Given the description of an element on the screen output the (x, y) to click on. 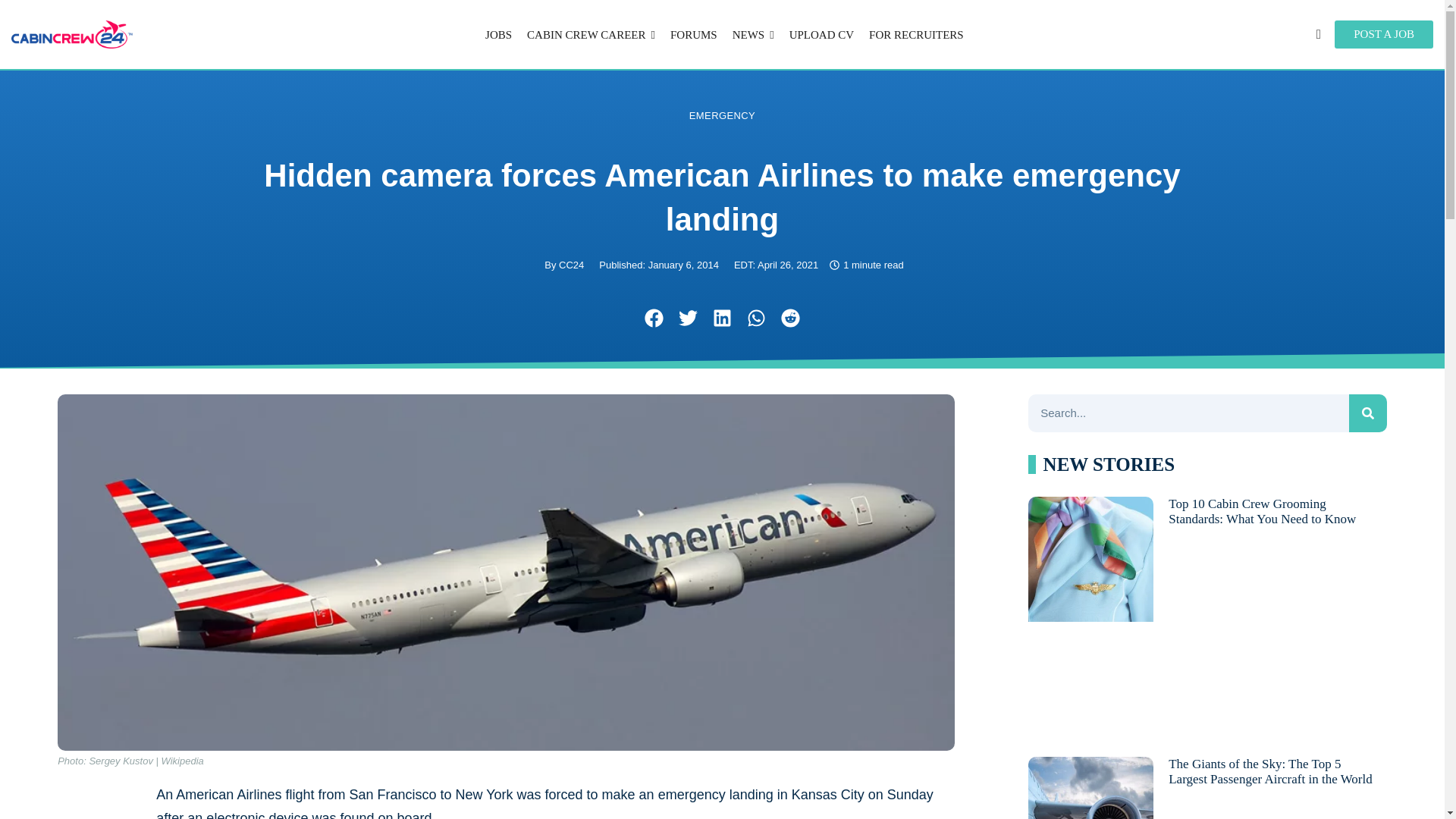
JOBS (498, 34)
CABIN CREW CAREER (591, 34)
Top 10 Cabin Crew Grooming Standards: What You Need to Know (1262, 511)
FOR RECRUITERS (916, 34)
CabinCrew24 (71, 33)
EMERGENCY (721, 115)
FORUMS (693, 34)
By CC24 (561, 264)
UPLOAD CV (821, 34)
POST A JOB (1383, 34)
NEWS (753, 34)
